Given the description of an element on the screen output the (x, y) to click on. 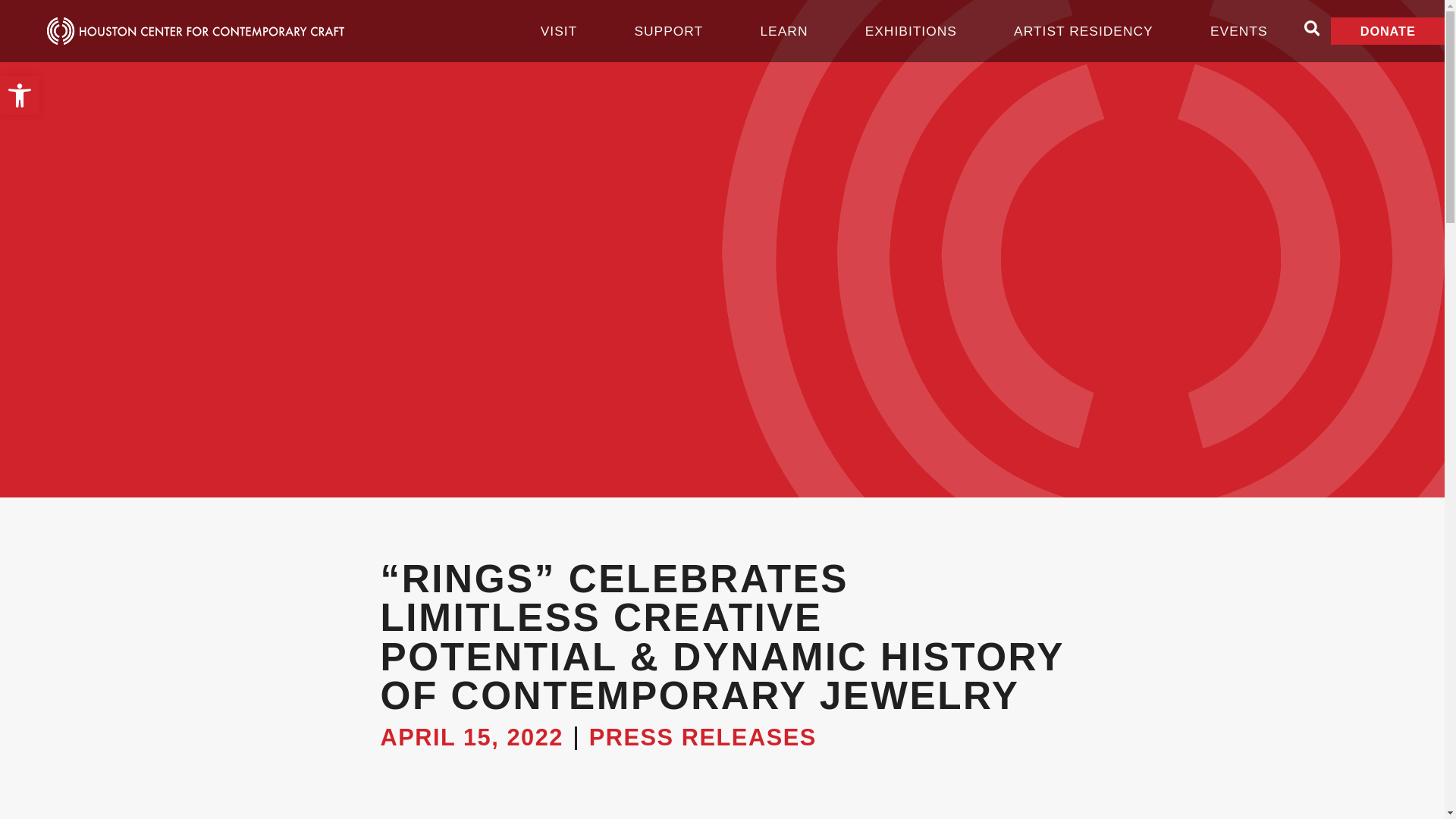
Accessibility Tools (19, 95)
ARTIST RESIDENCY (1086, 30)
Accessibility Tools (19, 95)
SUPPORT (672, 30)
LEARN (19, 95)
EXHIBITIONS (787, 30)
VISIT (914, 30)
